Given the description of an element on the screen output the (x, y) to click on. 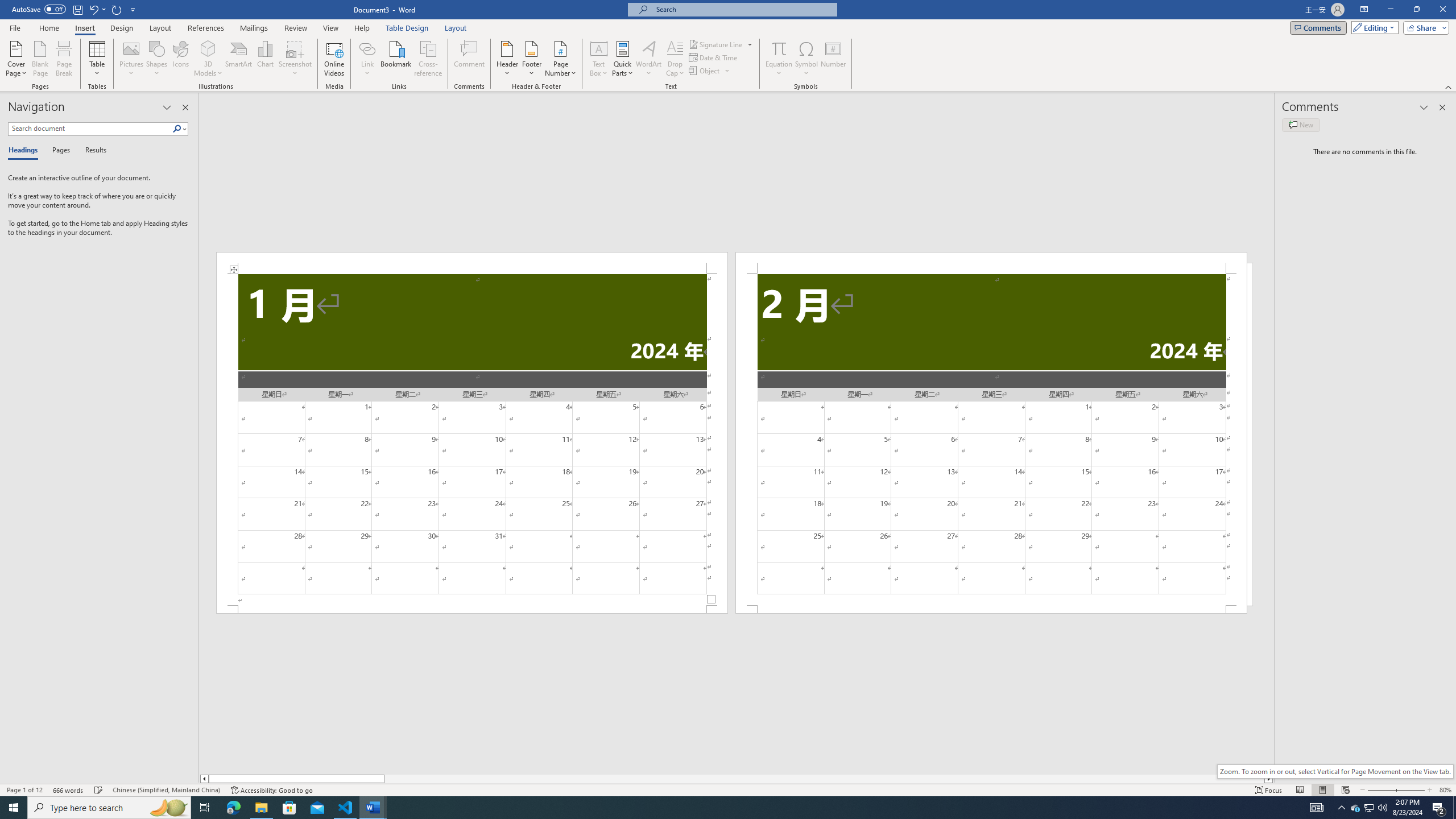
Drop Cap (674, 58)
Shapes (156, 58)
Signature Line (721, 44)
Page 2 content (991, 439)
Footer -Section 2- (991, 609)
Chart... (265, 58)
Comment (469, 58)
Signature Line (716, 44)
Page Number Page 1 of 12 (24, 790)
Quick Parts (622, 58)
